Given the description of an element on the screen output the (x, y) to click on. 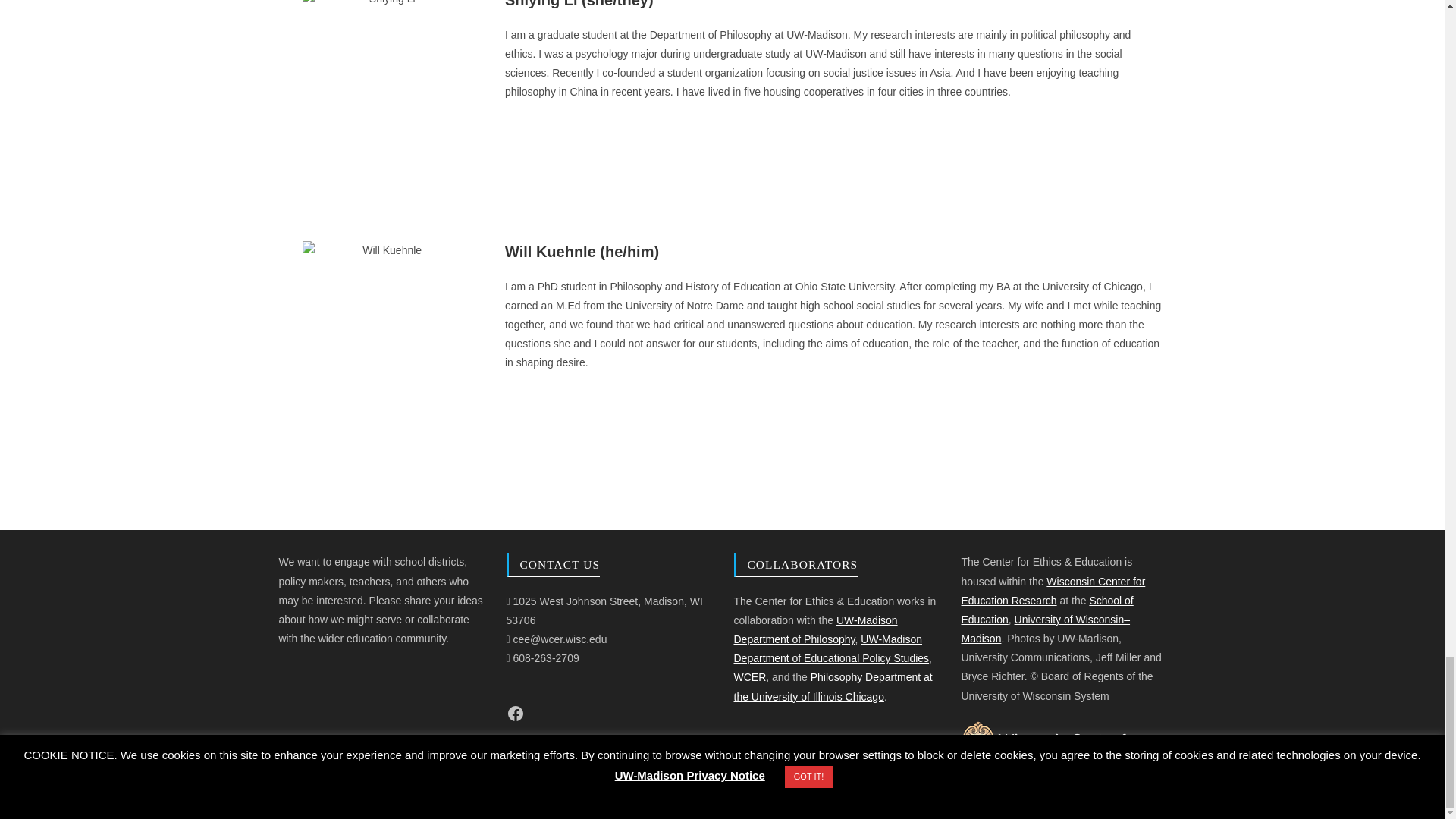
UW-Madison Department of Philosophy (815, 629)
UW-Madison Department of Educational Policy Studies (831, 648)
WCER (750, 676)
Philosophy Department at the University of Illinois Chicago (833, 685)
